Given the description of an element on the screen output the (x, y) to click on. 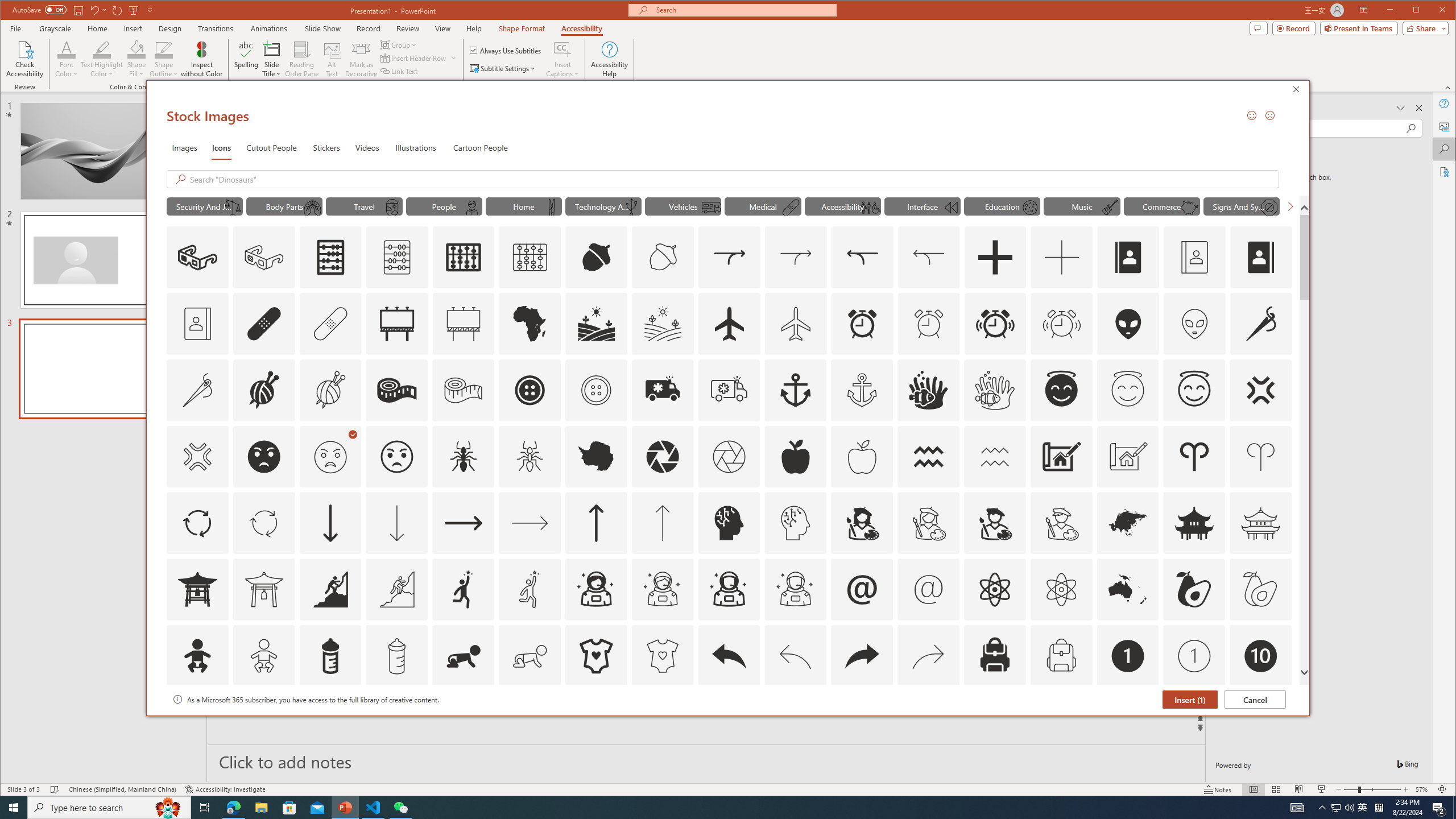
AutomationID: Icons_Badge10 (1260, 655)
AutomationID: Icons_Airplane (729, 323)
Spelling... (246, 59)
AutomationID: Icons_Back_RTL_M (928, 655)
AutomationID: Icons_Badge9_M (1260, 721)
Videos (367, 147)
AutomationID: Icons_ArtistMale (994, 522)
AutomationID: Icons_Antarctica (595, 456)
Inspect without Color (201, 59)
AutomationID: Icons_Baby (197, 655)
